Given the description of an element on the screen output the (x, y) to click on. 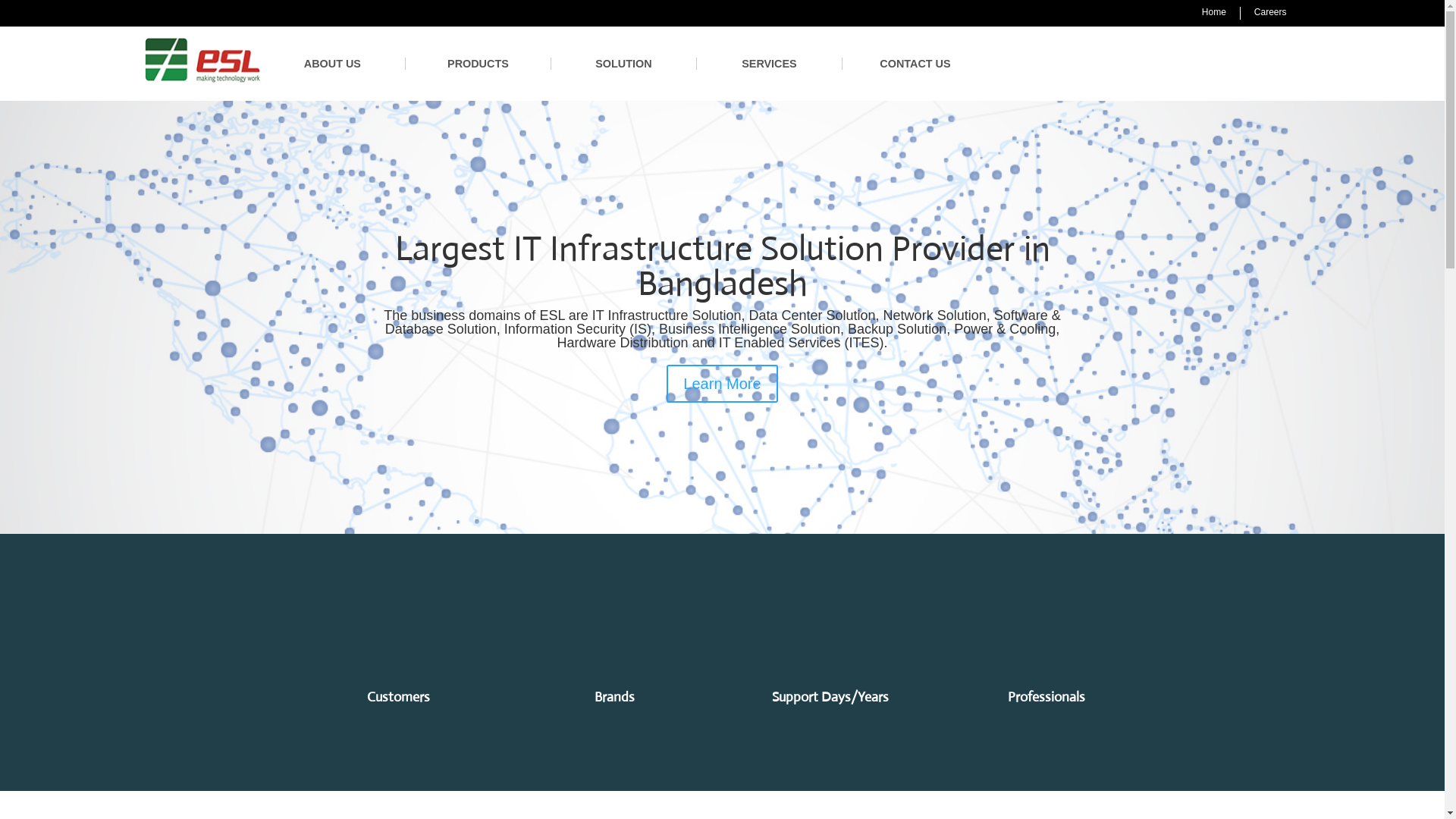
Careers Element type: text (1270, 11)
Learn More Element type: text (721, 383)
Home Element type: text (1213, 11)
SOLUTION Element type: text (623, 63)
Largest IT Infrastructure Solution Provider in Bangladesh Element type: text (721, 265)
ABOUT US Element type: text (332, 63)
SERVICES Element type: text (769, 63)
PRODUCTS Element type: text (478, 63)
CONTACT US Element type: text (915, 63)
